Given the description of an element on the screen output the (x, y) to click on. 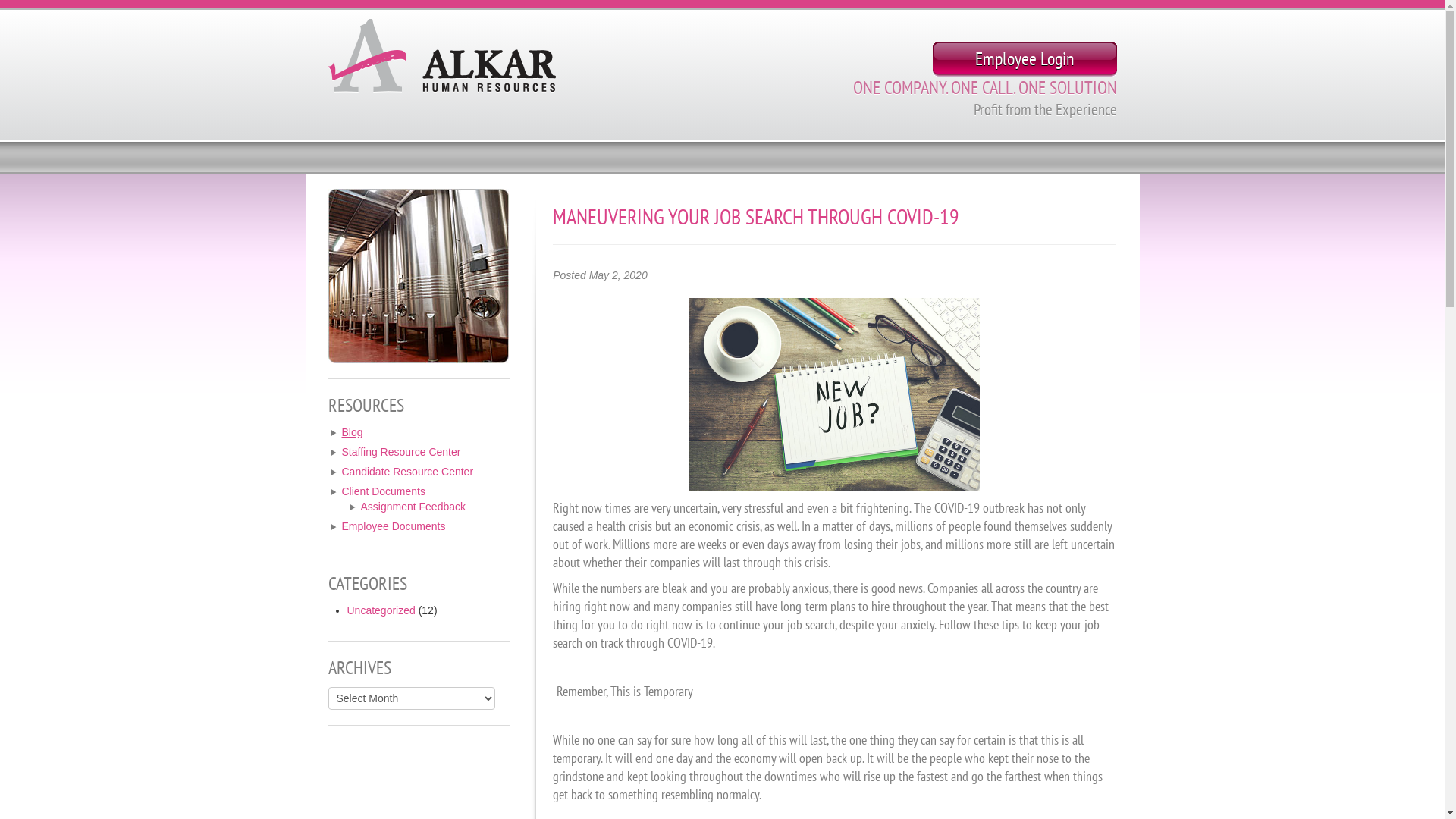
Employee Login Element type: text (1024, 58)
Client Documents Element type: text (383, 491)
Staffing Resource Center Element type: text (400, 451)
Assignment Feedback Element type: text (413, 506)
Employee Documents Element type: text (393, 526)
Candidate Resource Center Element type: text (407, 471)
Uncategorized Element type: text (381, 610)
Blog Element type: text (351, 432)
